Given the description of an element on the screen output the (x, y) to click on. 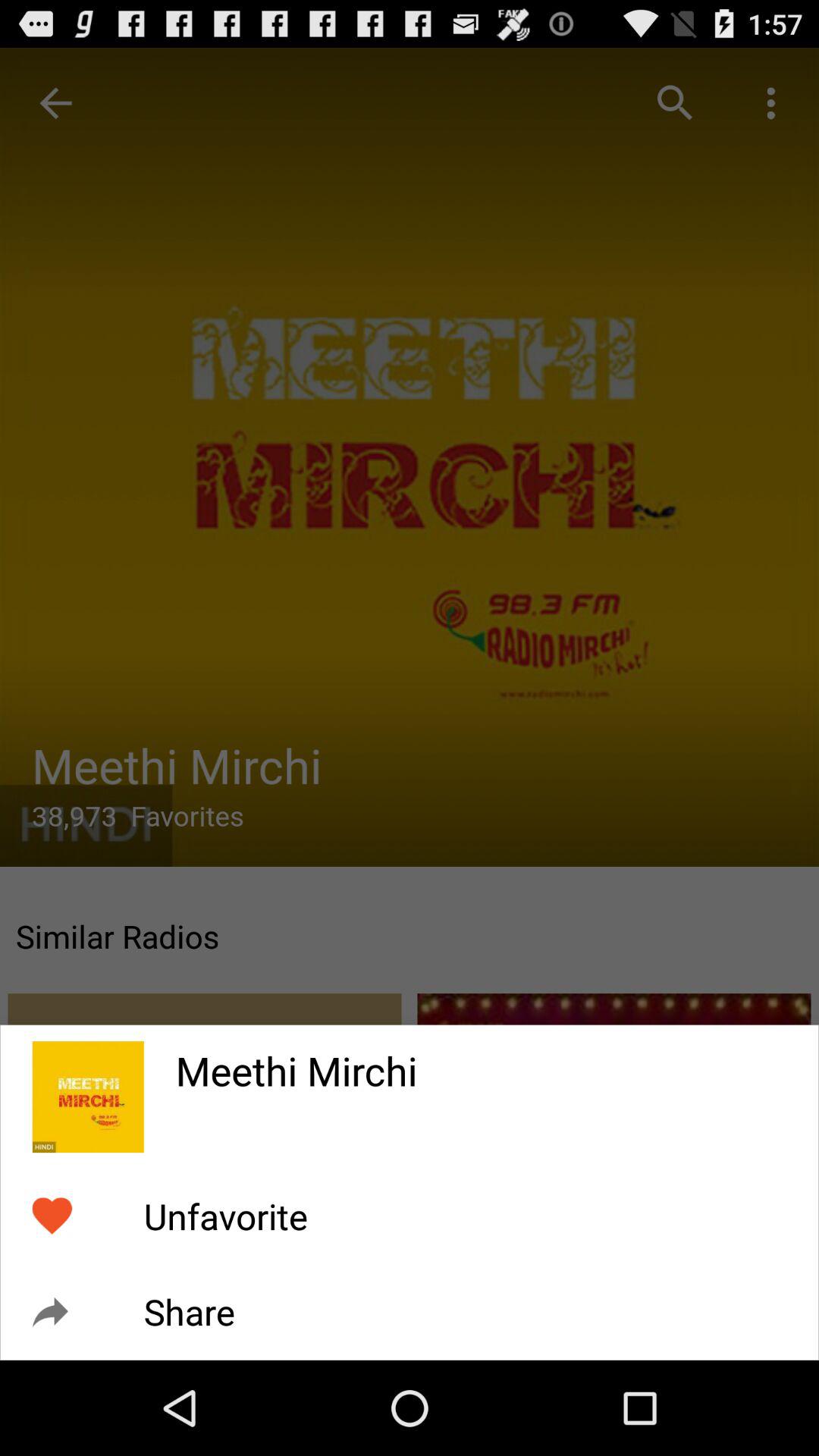
tap the item at the center (409, 680)
